Given the description of an element on the screen output the (x, y) to click on. 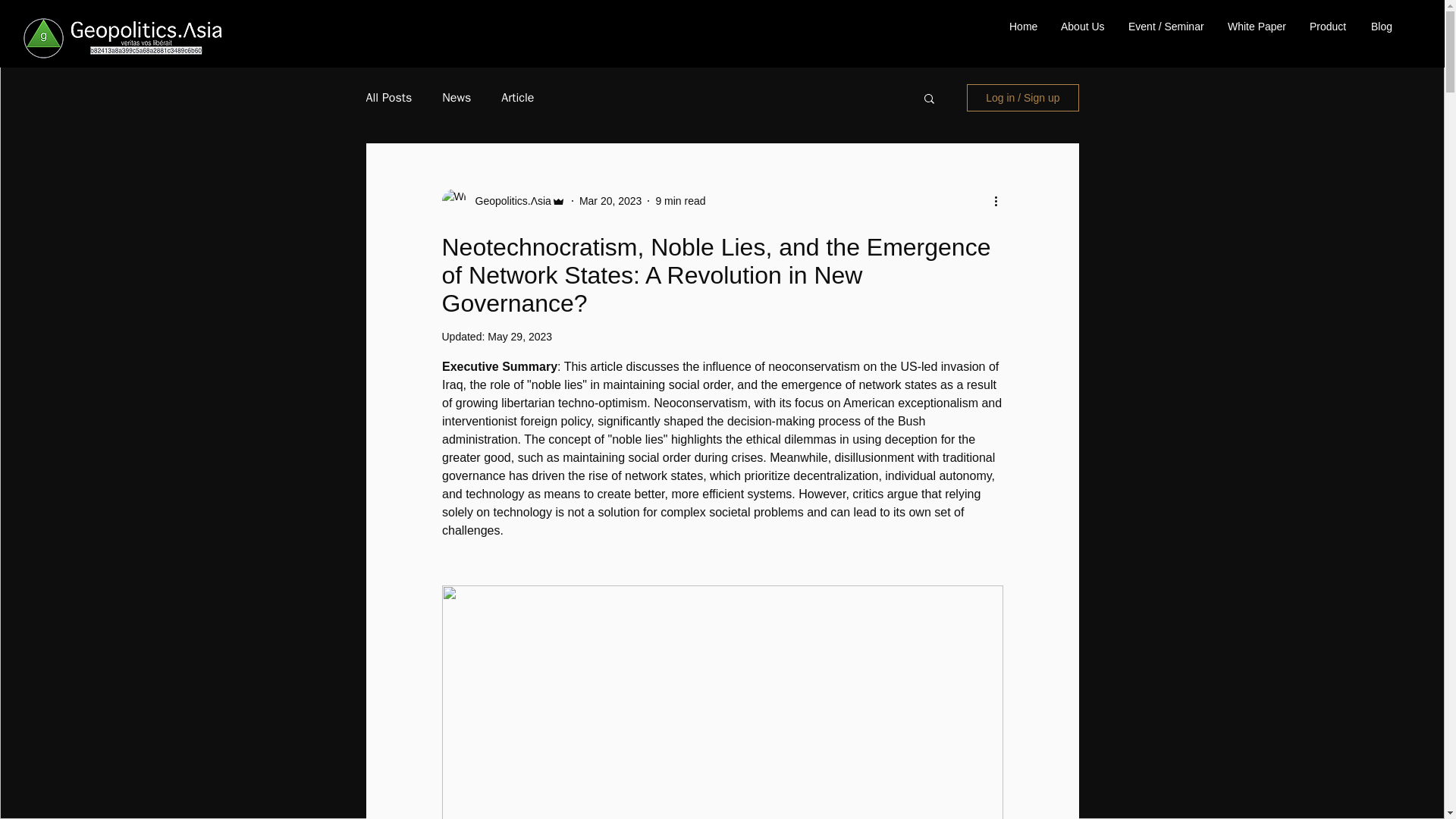
Article (517, 97)
Mar 20, 2023 (610, 200)
White Paper (1256, 26)
May 29, 2023 (519, 336)
About Us (1082, 26)
All Posts (388, 97)
Blog (1382, 26)
Home (1023, 26)
9 min read (679, 200)
News (456, 97)
Product (1328, 26)
